Given the description of an element on the screen output the (x, y) to click on. 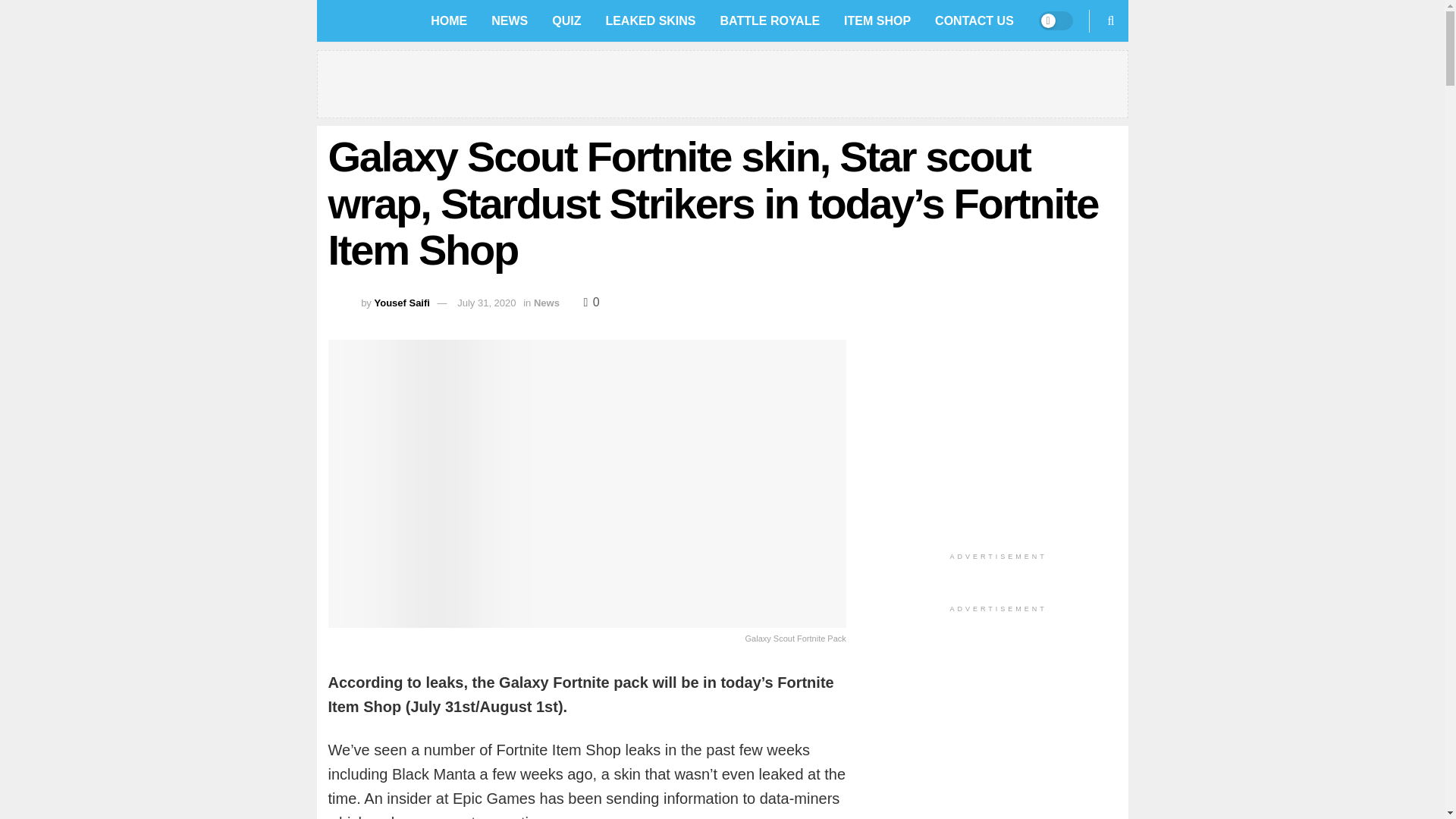
ITEM SHOP (877, 20)
July 31, 2020 (486, 302)
BATTLE ROYALE (769, 20)
Yousef Saifi (401, 302)
QUIZ (566, 20)
News (546, 302)
0 (591, 301)
HOME (449, 20)
NEWS (509, 20)
